Given the description of an element on the screen output the (x, y) to click on. 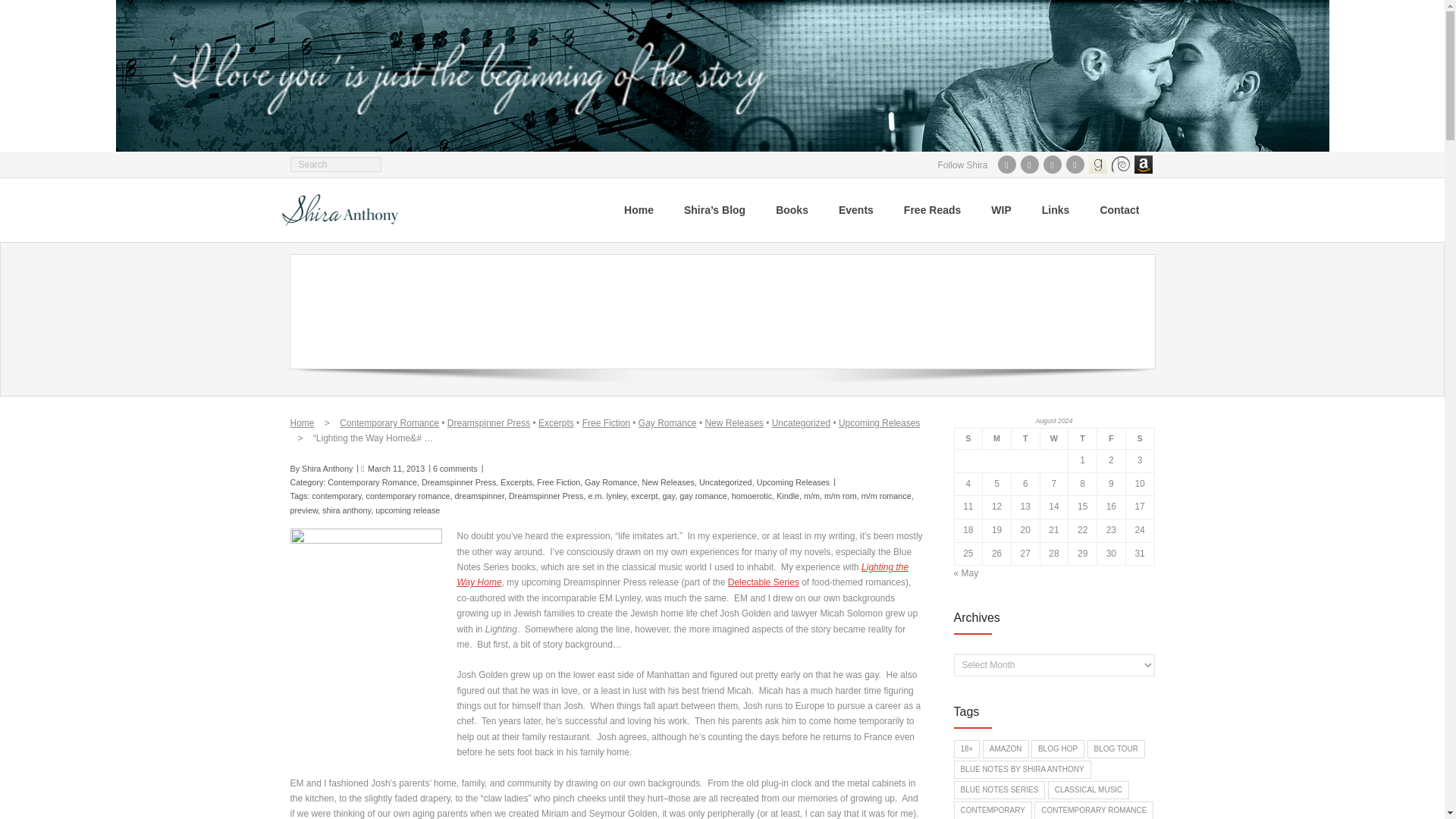
Excerpts (555, 422)
Uncategorized (800, 422)
Links (1055, 209)
Contact (1119, 209)
Events (856, 209)
Shira Anthony (326, 468)
Friday (1111, 437)
Books (792, 209)
Gay Romance (668, 422)
Home (301, 422)
Free Fiction (606, 422)
Thursday (1082, 437)
Dreamspinner Press (487, 422)
Home (638, 209)
Contemporary Romance (389, 422)
